Given the description of an element on the screen output the (x, y) to click on. 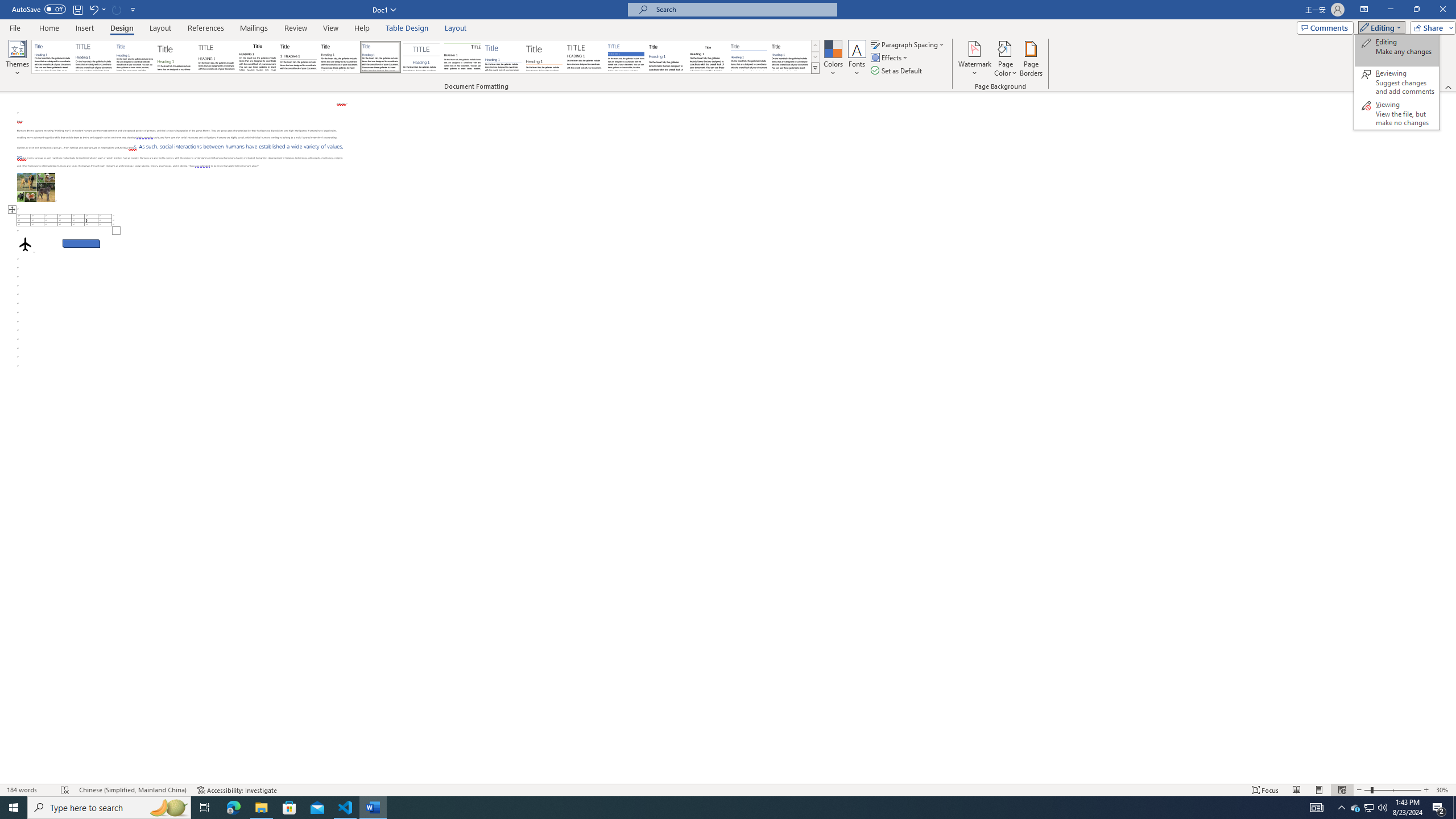
Style Set (814, 67)
Themes (17, 58)
Effects (890, 56)
Casual (379, 56)
Black & White (Capitalized) (216, 56)
